Given the description of an element on the screen output the (x, y) to click on. 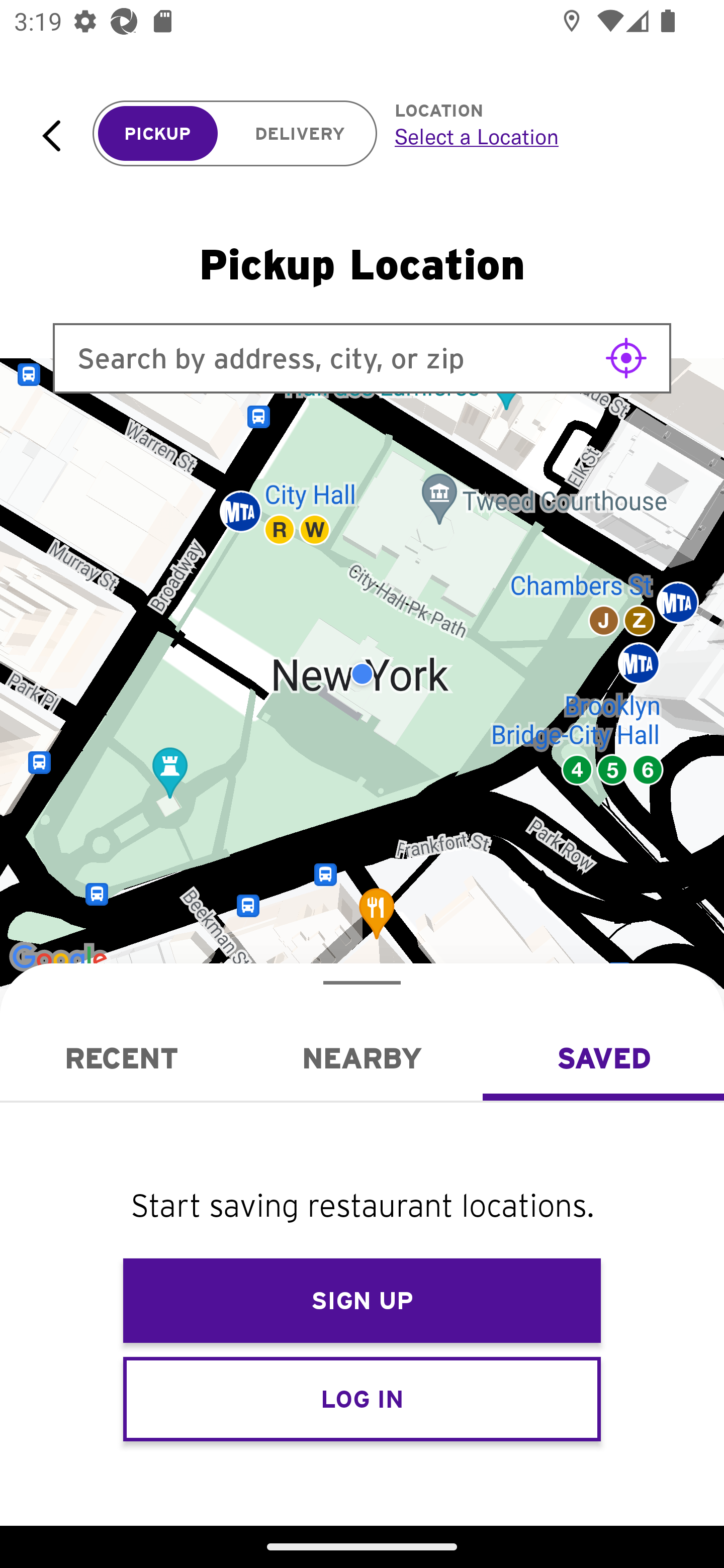
PICKUP (157, 133)
DELIVERY (299, 133)
Select a Location (536, 136)
Search by address, city, or zip (361, 358)
Google Map (362, 674)
Recent RECENT (120, 1058)
Nearby NEARBY (361, 1058)
SIGN UP (361, 1300)
LOG IN (361, 1398)
